Given the description of an element on the screen output the (x, y) to click on. 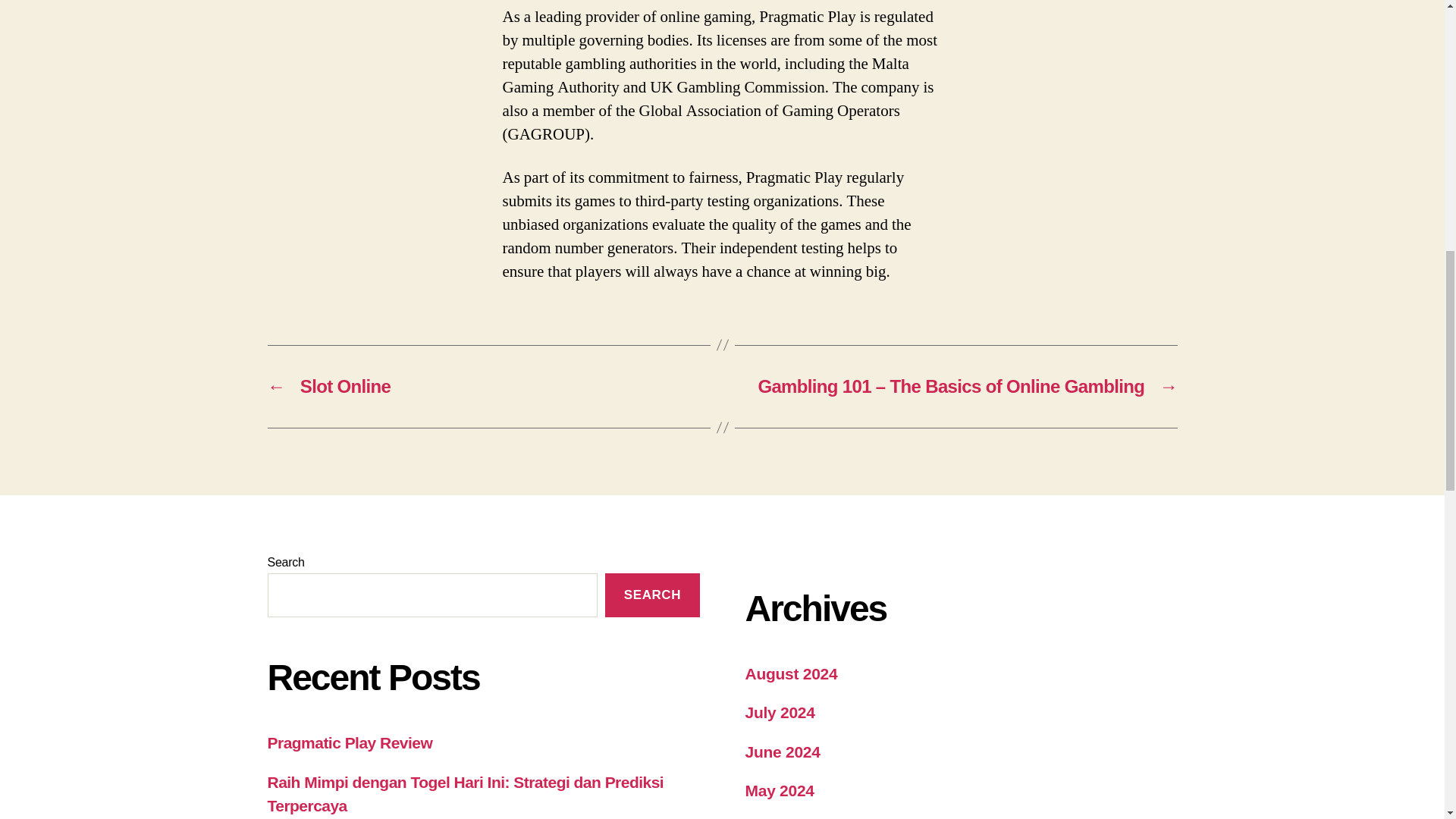
SEARCH (651, 595)
Pragmatic Play Review (349, 742)
May 2024 (778, 790)
August 2024 (790, 673)
June 2024 (781, 751)
July 2024 (778, 712)
